Given the description of an element on the screen output the (x, y) to click on. 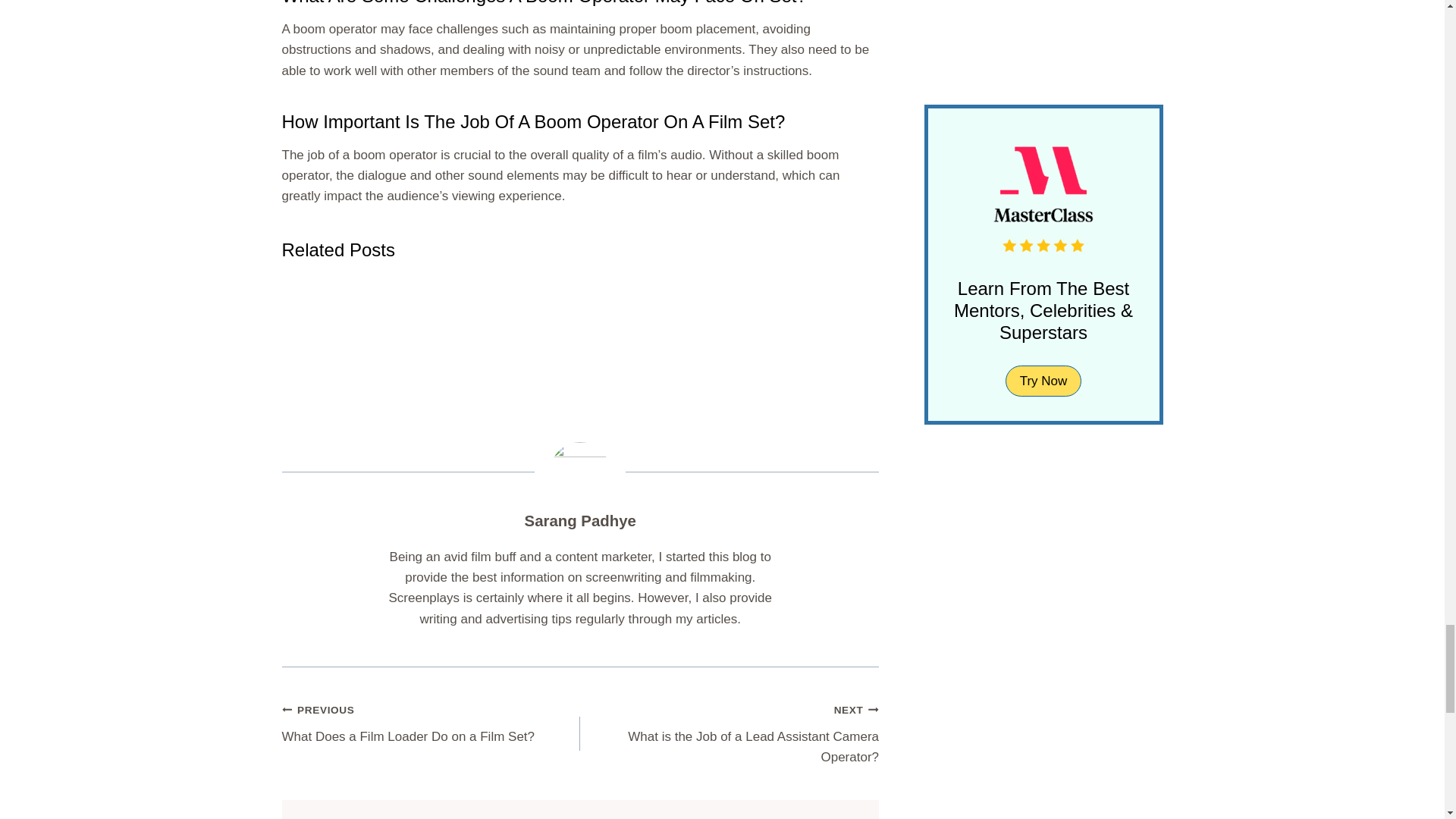
What Does a Re-Recording Engineer Do for a Film? (660, 329)
Writing Screenplays using Google Docs and Word (822, 329)
Posts by Sarang Padhye (580, 520)
